Given the description of an element on the screen output the (x, y) to click on. 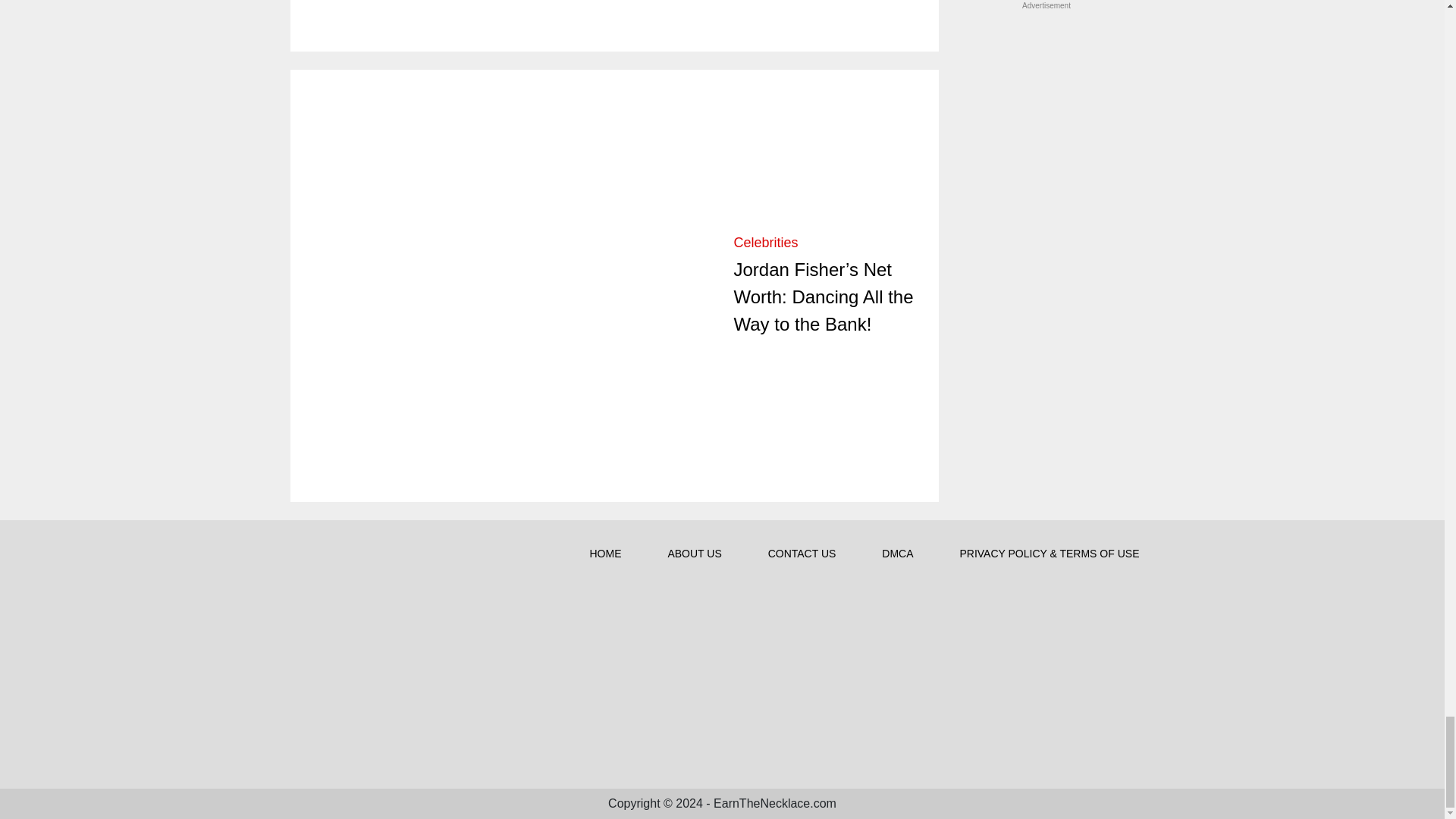
Category Name (765, 242)
